Given the description of an element on the screen output the (x, y) to click on. 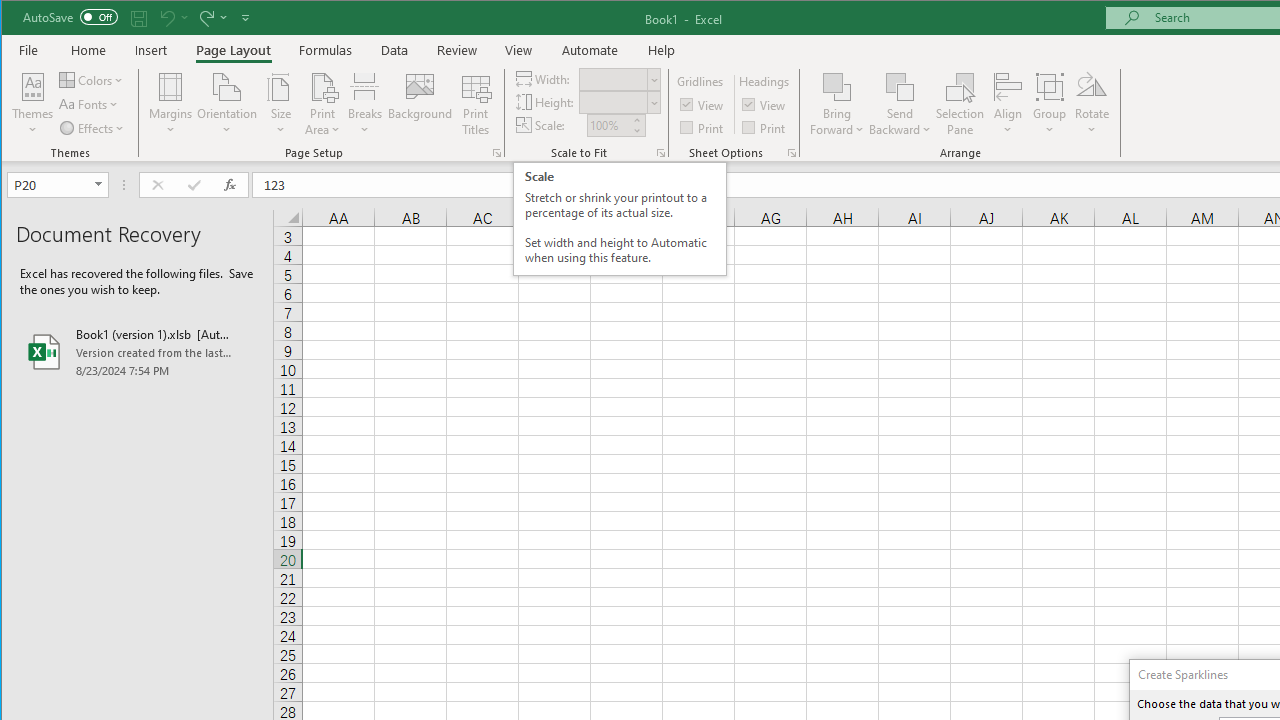
Breaks (365, 104)
Review (456, 50)
Print Titles (475, 104)
Formulas (326, 50)
Height (619, 101)
Insert (151, 50)
Background... (420, 104)
Sheet Options (791, 152)
File Tab (29, 49)
Colors (93, 80)
Group (1050, 104)
